Given the description of an element on the screen output the (x, y) to click on. 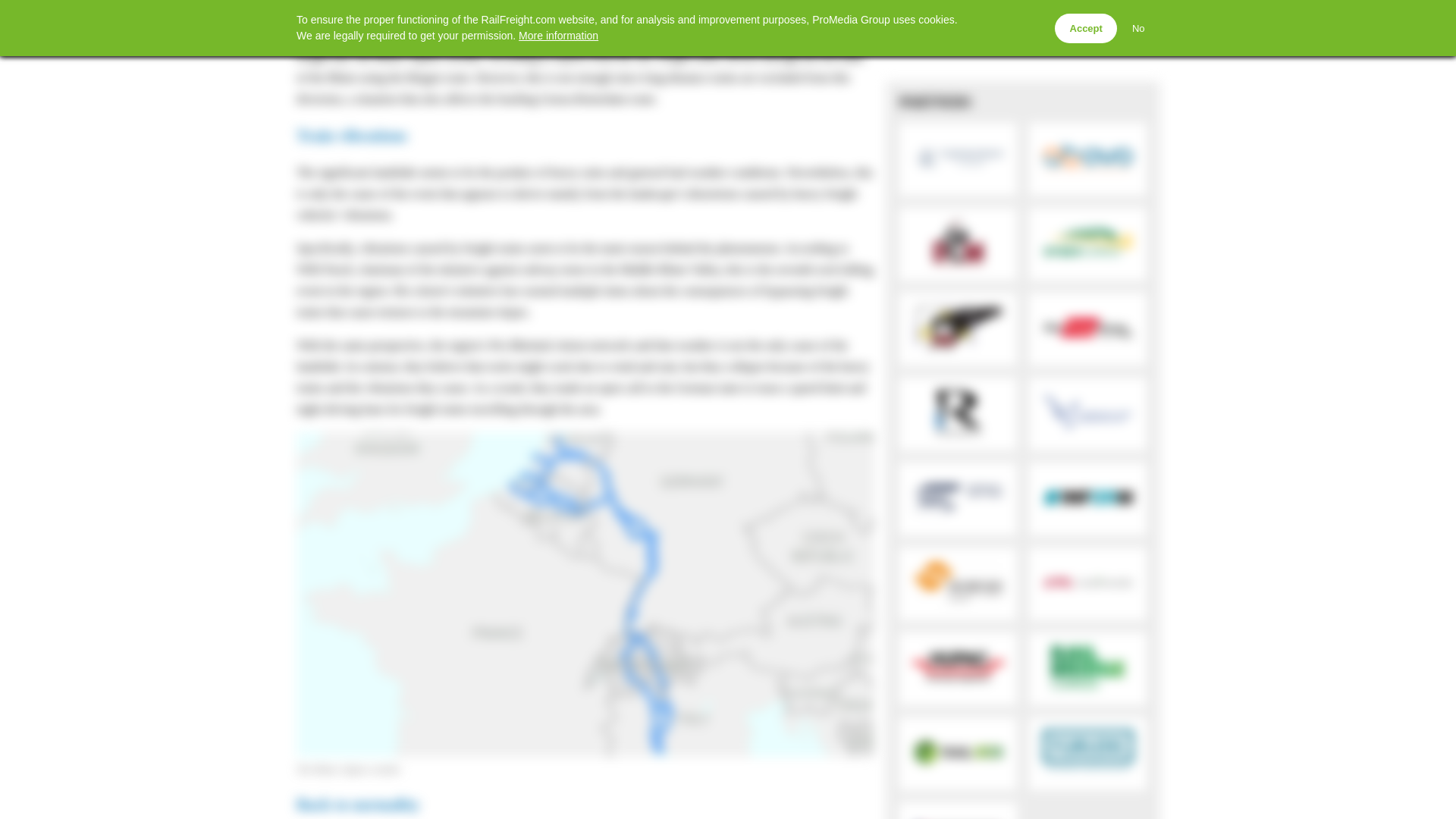
3rd party ad content (1022, 34)
